Given the description of an element on the screen output the (x, y) to click on. 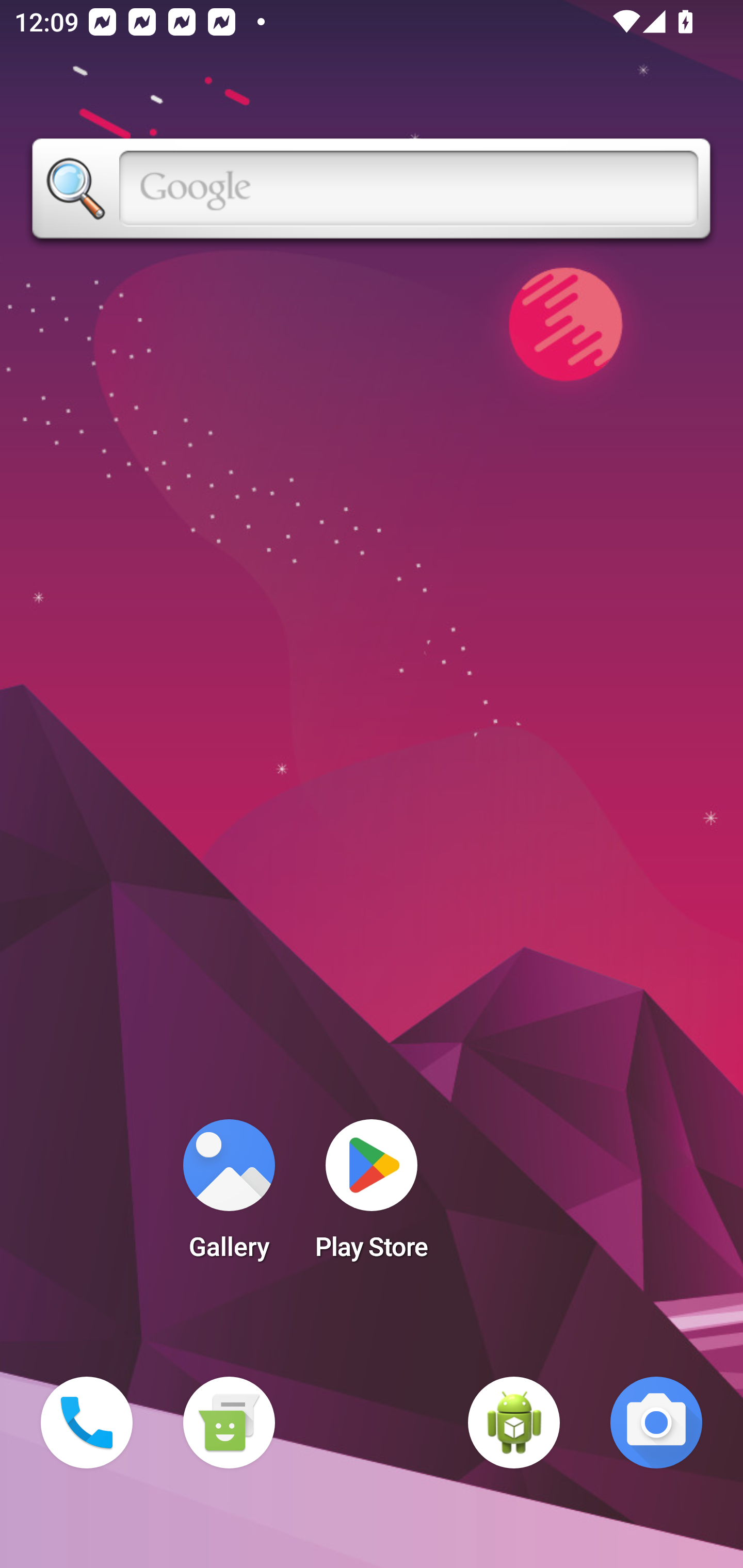
Gallery (228, 1195)
Play Store (371, 1195)
Phone (86, 1422)
Messaging (228, 1422)
WebView Browser Tester (513, 1422)
Camera (656, 1422)
